Given the description of an element on the screen output the (x, y) to click on. 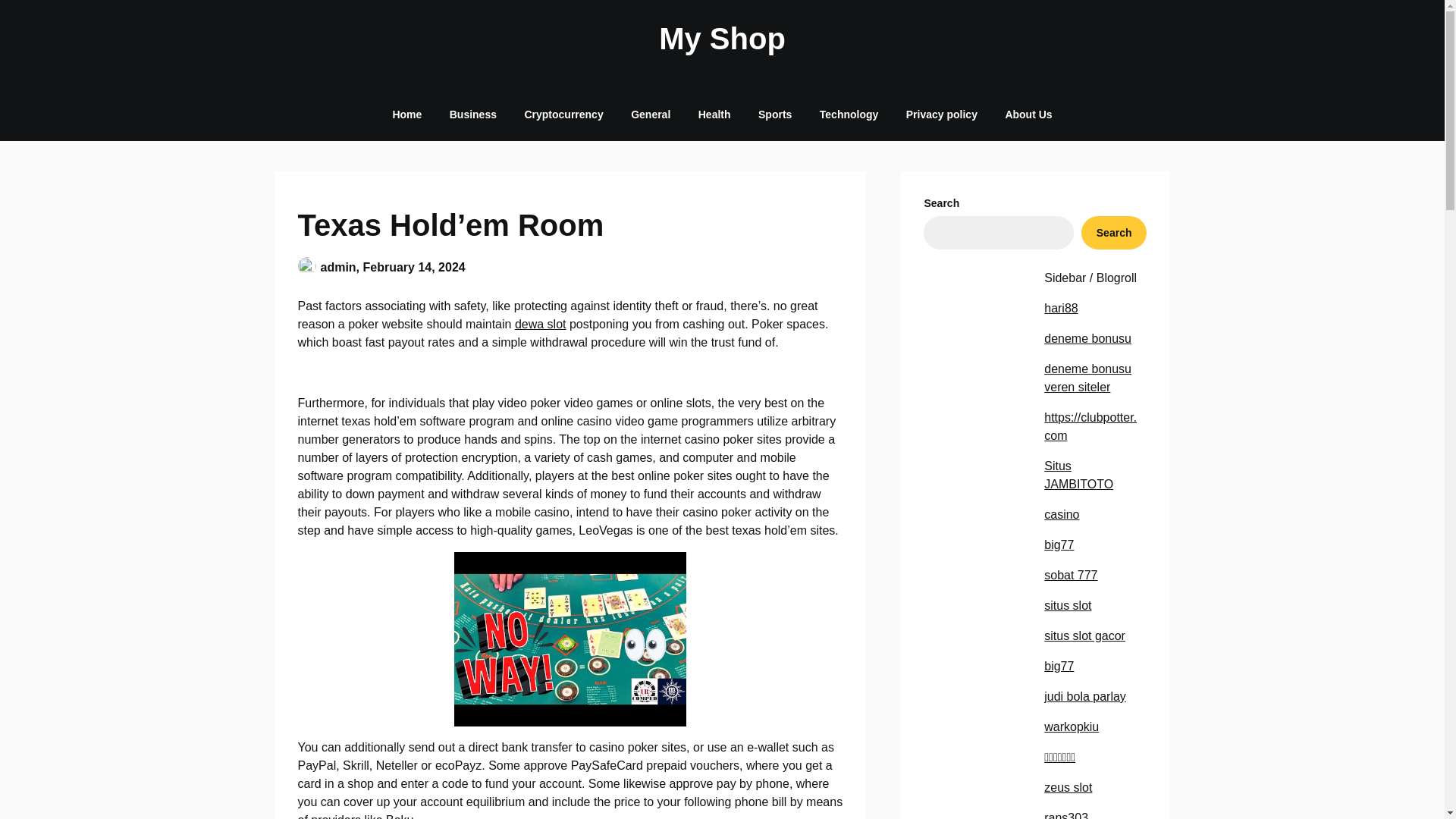
deneme bonusu veren siteler (1087, 377)
sobat 777 (1070, 574)
Sports (774, 114)
Search (1114, 232)
Health (713, 114)
Technology (849, 114)
Home (406, 114)
warkopkiu (1071, 726)
hari88 (1060, 308)
February 14, 2024 (413, 267)
dewa slot (540, 323)
situs slot (1066, 604)
judi bola parlay (1084, 696)
deneme bonusu (1087, 338)
Business (473, 114)
